Given the description of an element on the screen output the (x, y) to click on. 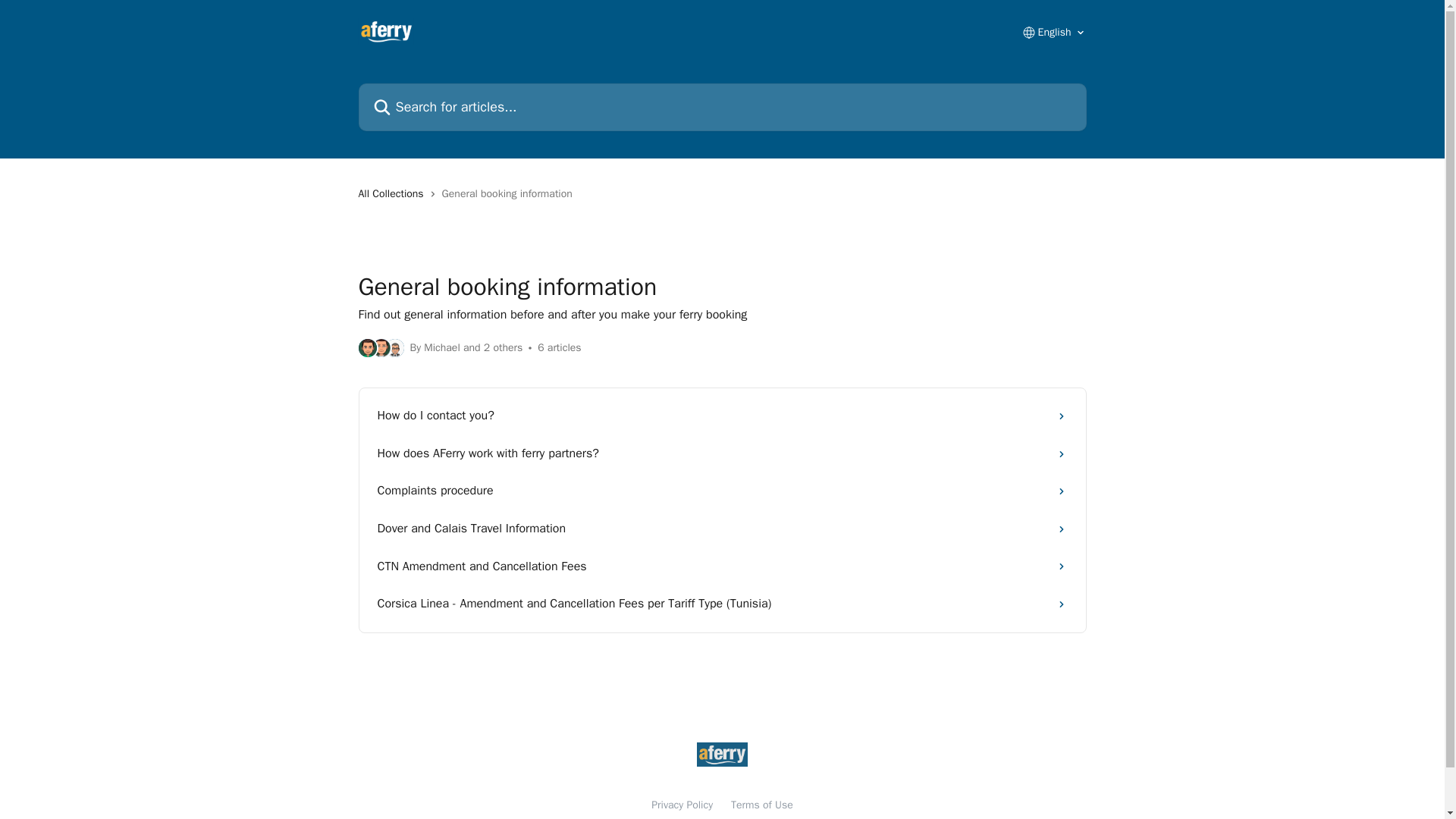
All Collections (393, 193)
Complaints procedure (722, 491)
Dover and Calais Travel Information (722, 528)
How does AFerry work with ferry partners? (722, 453)
CTN Amendment and Cancellation Fees (722, 566)
How do I contact you? (722, 415)
Privacy Policy (681, 804)
Terms of Use (761, 804)
